Given the description of an element on the screen output the (x, y) to click on. 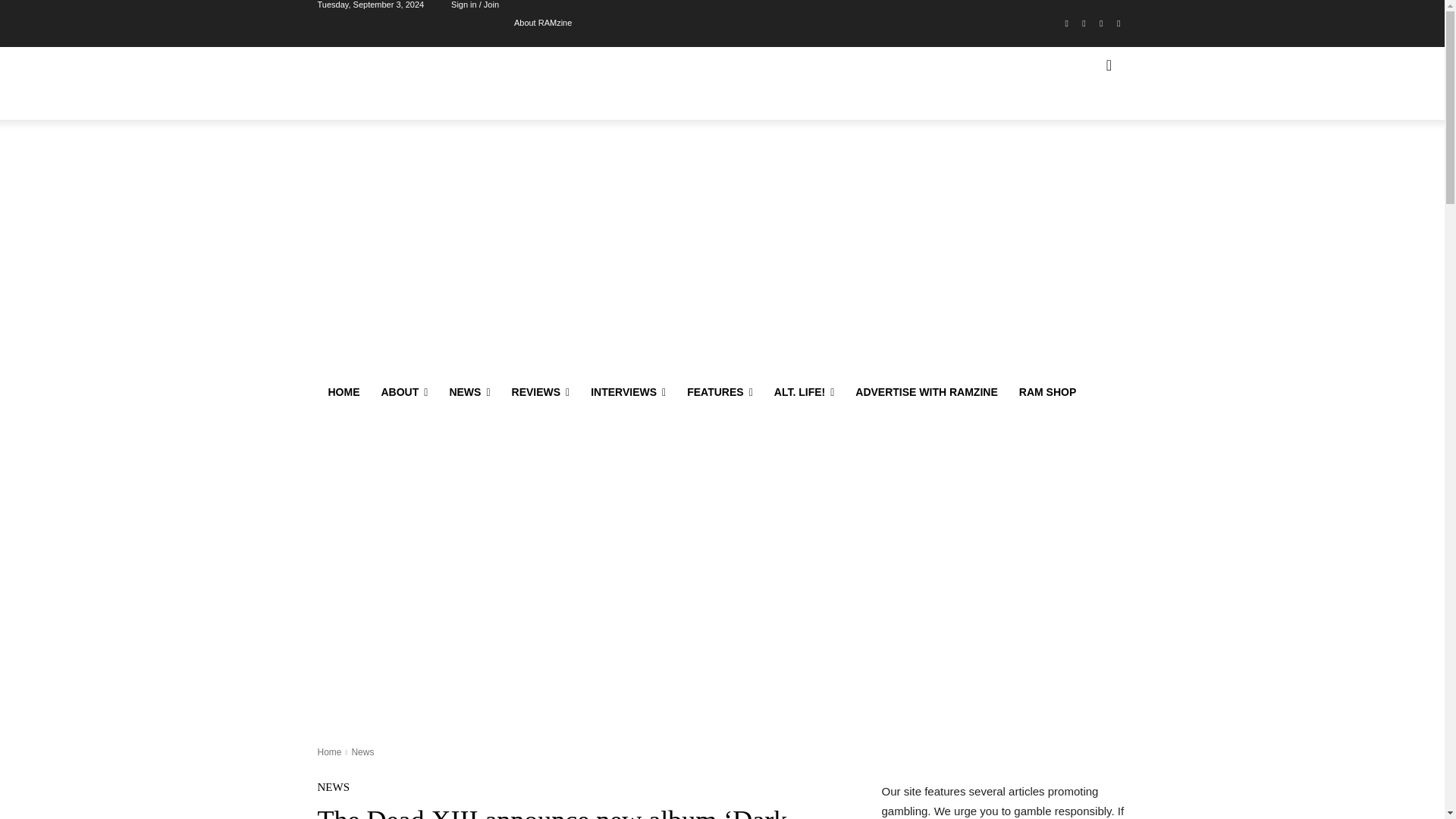
Instagram (1084, 23)
Facebook (1066, 23)
Twitter (1101, 23)
Youtube (1117, 23)
